Given the description of an element on the screen output the (x, y) to click on. 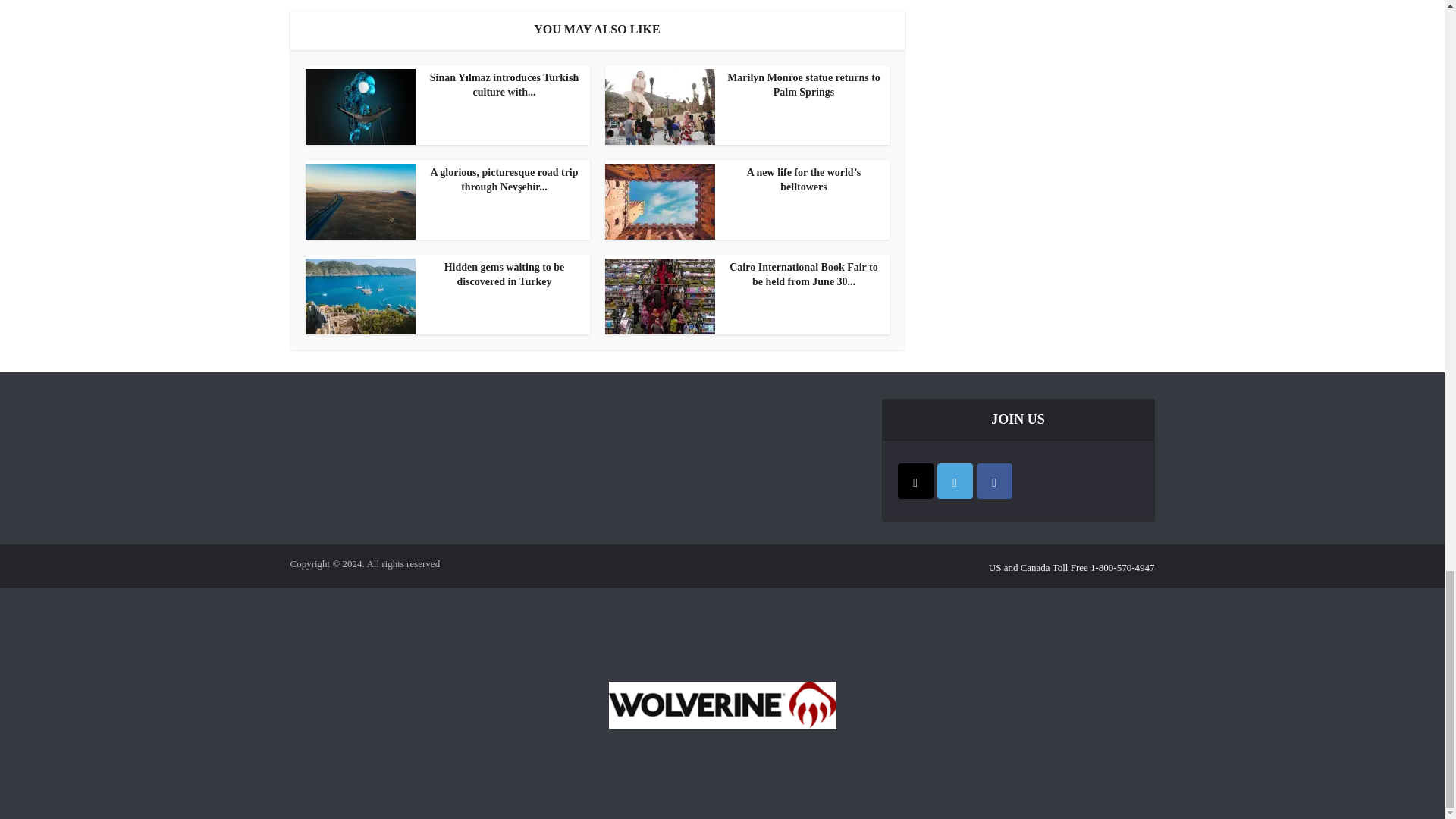
Marilyn Monroe statue returns to Palm Springs (743, 85)
